Given the description of an element on the screen output the (x, y) to click on. 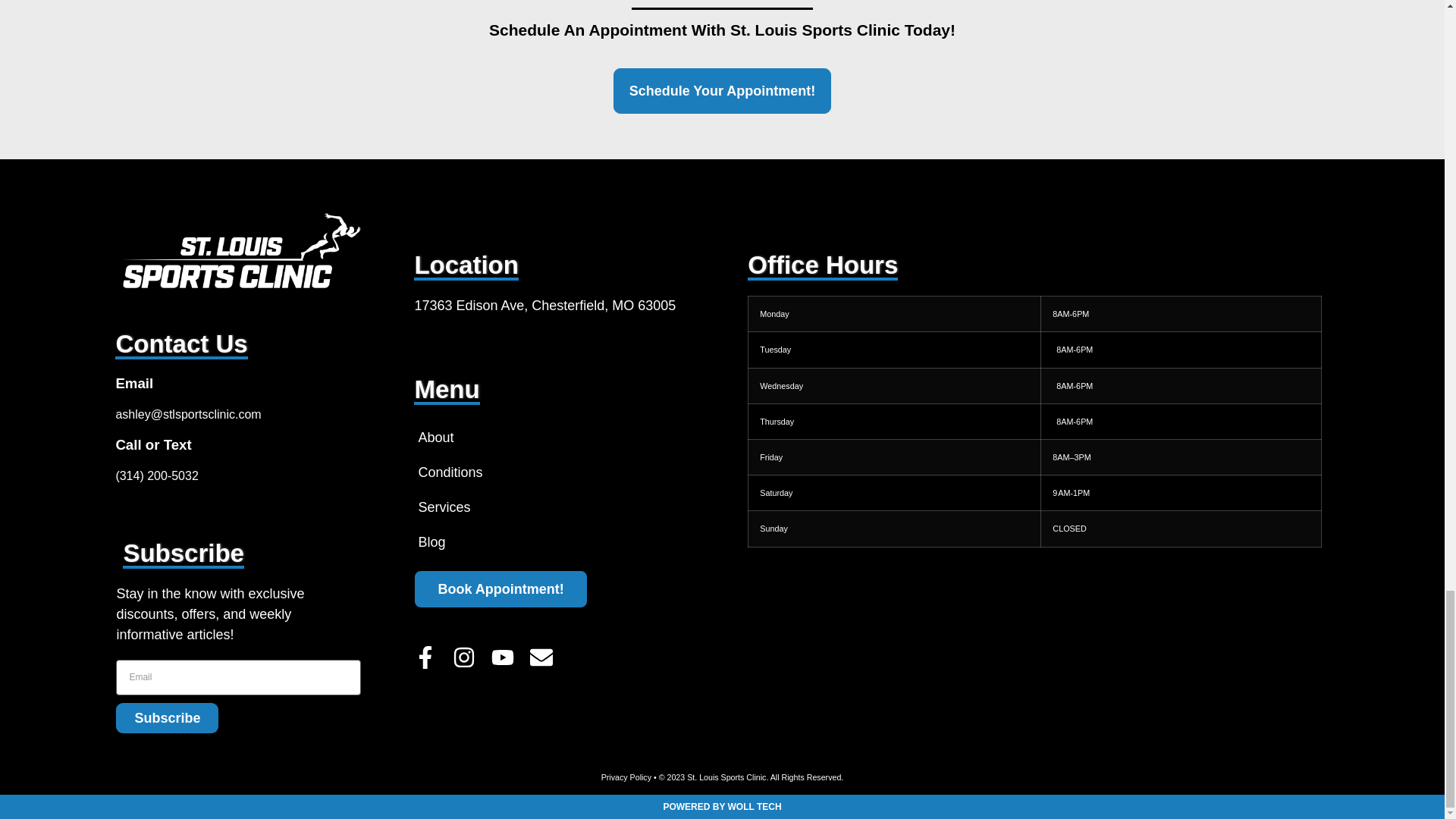
17363 Edison Ave, Chesterfield, MO 63005 (1034, 661)
